Given the description of an element on the screen output the (x, y) to click on. 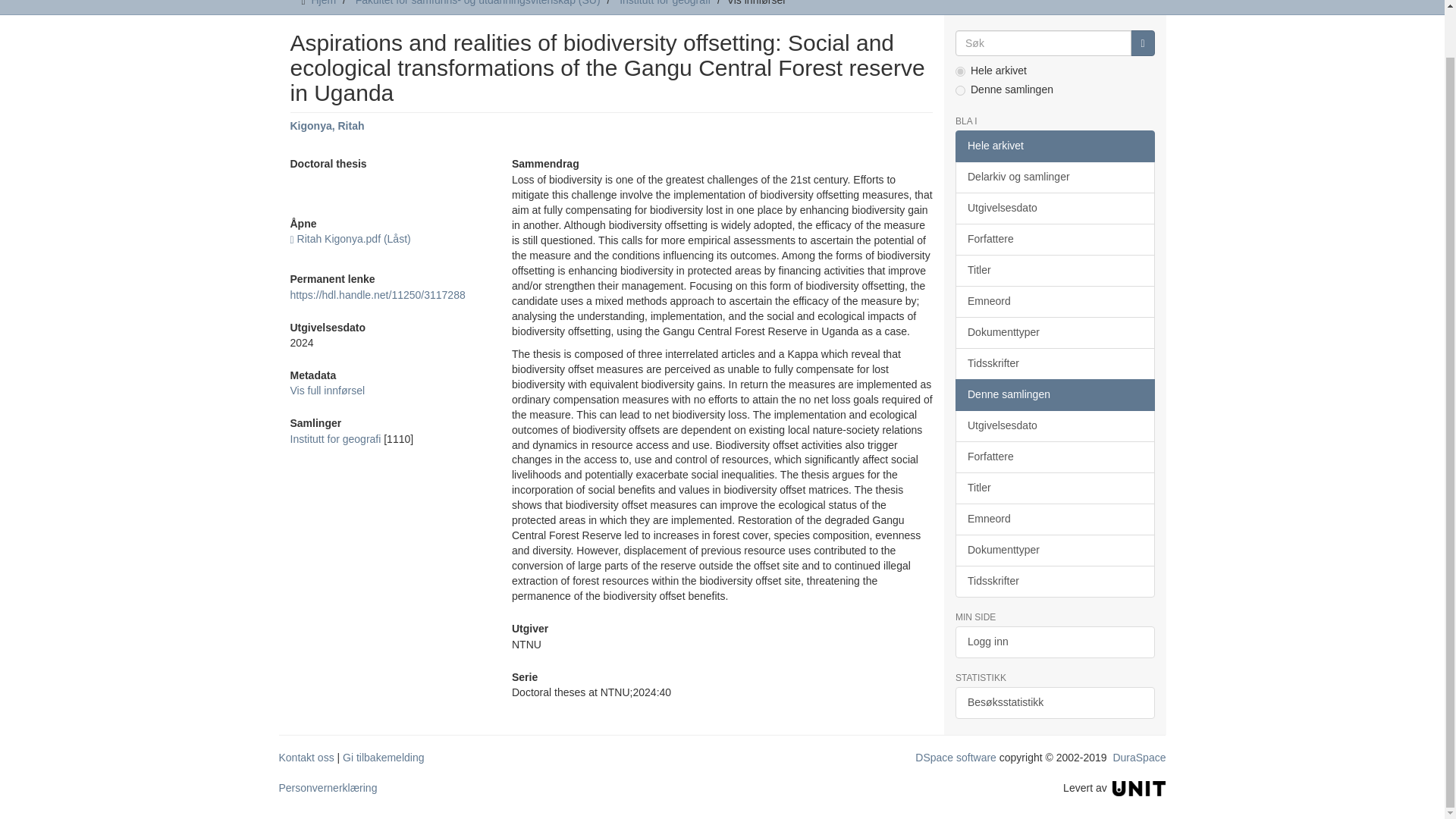
Hele arkivet (1054, 146)
Tidsskrifter (1054, 364)
Hjem (323, 2)
Utgivelsesdato (1054, 208)
Kigonya, Ritah (326, 125)
Institutt for geografi (334, 439)
Titler (1054, 270)
Forfattere (1054, 239)
Emneord (1054, 301)
Delarkiv og samlinger (1054, 177)
